Given the description of an element on the screen output the (x, y) to click on. 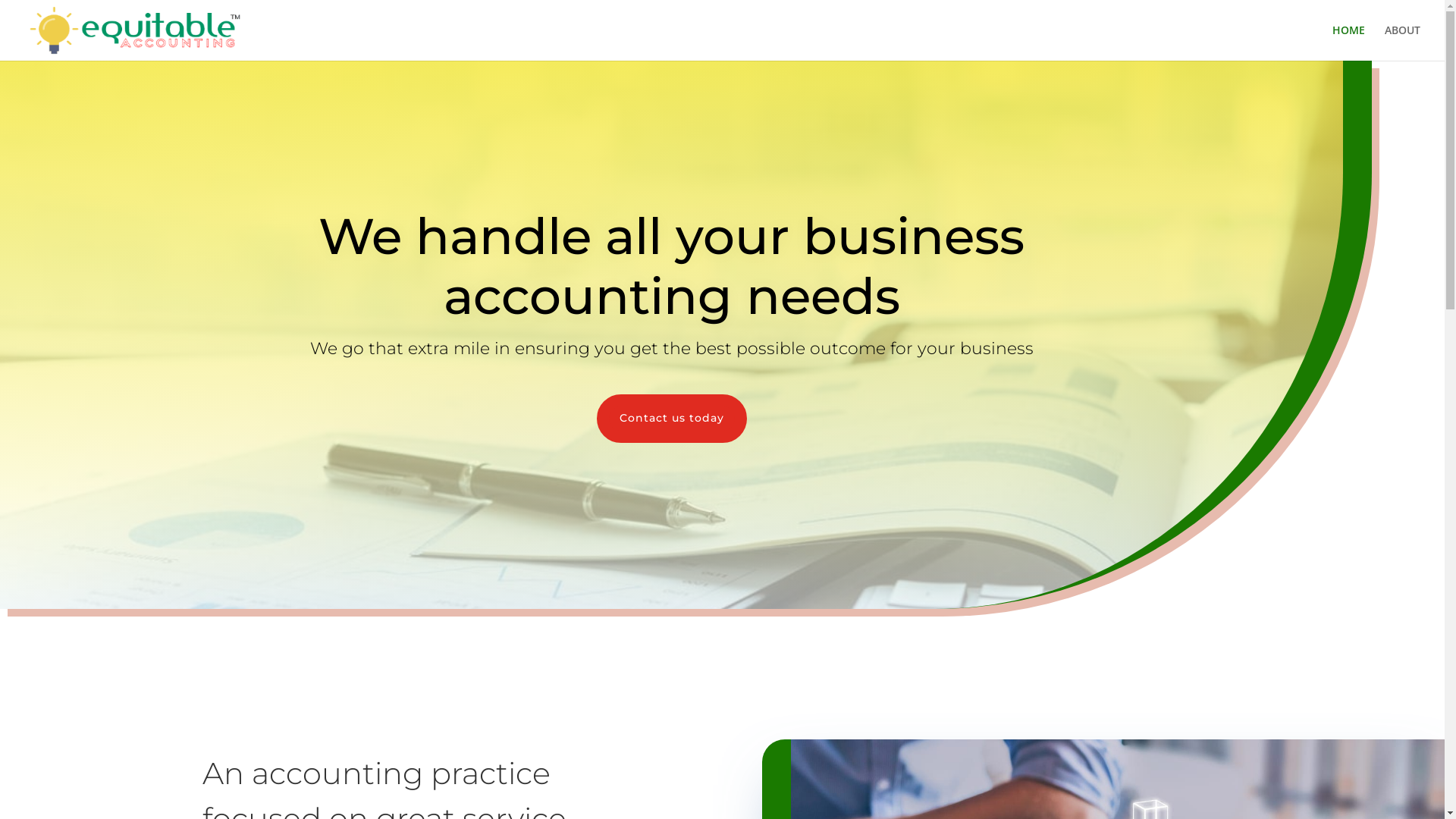
HOME Element type: text (1348, 42)
ABOUT Element type: text (1402, 42)
Contact us today Element type: text (671, 418)
